Given the description of an element on the screen output the (x, y) to click on. 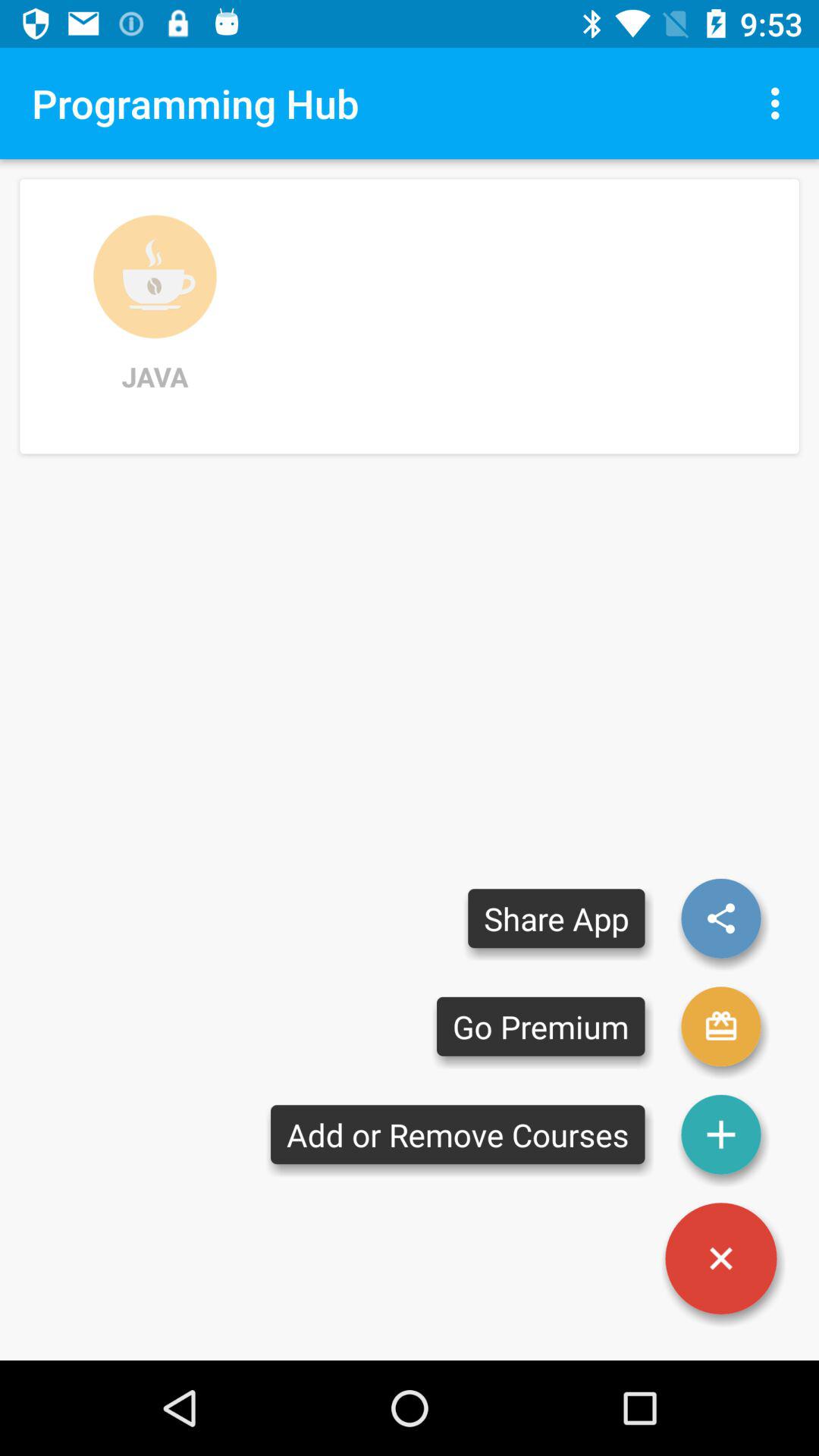
click icon to the right of the add or remove icon (721, 1258)
